Given the description of an element on the screen output the (x, y) to click on. 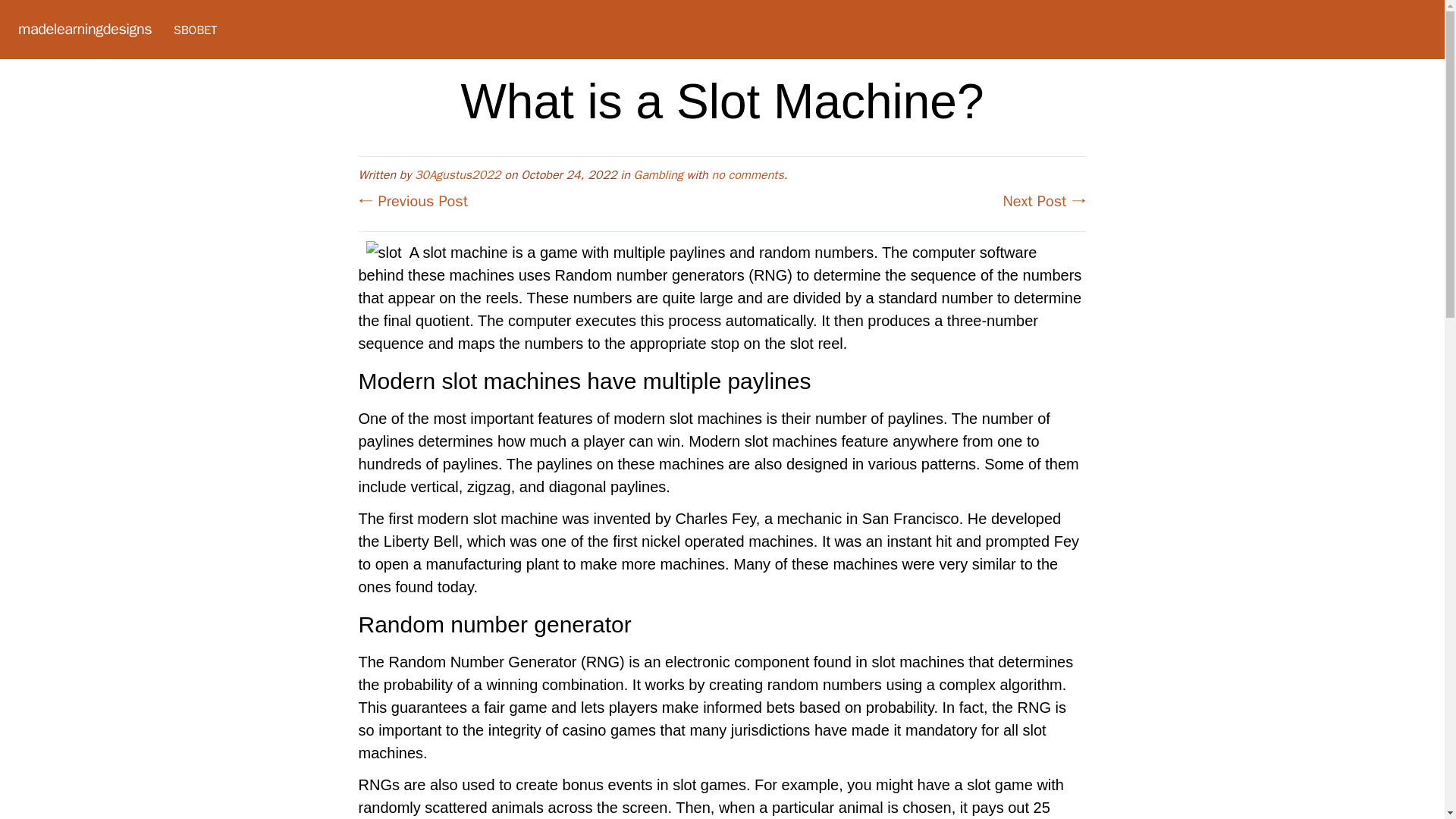
30Agustus2022 (457, 174)
Gambling (657, 174)
no comments (747, 174)
no comments (747, 174)
madelearningdesigns (84, 29)
SBOBET (194, 30)
